Given the description of an element on the screen output the (x, y) to click on. 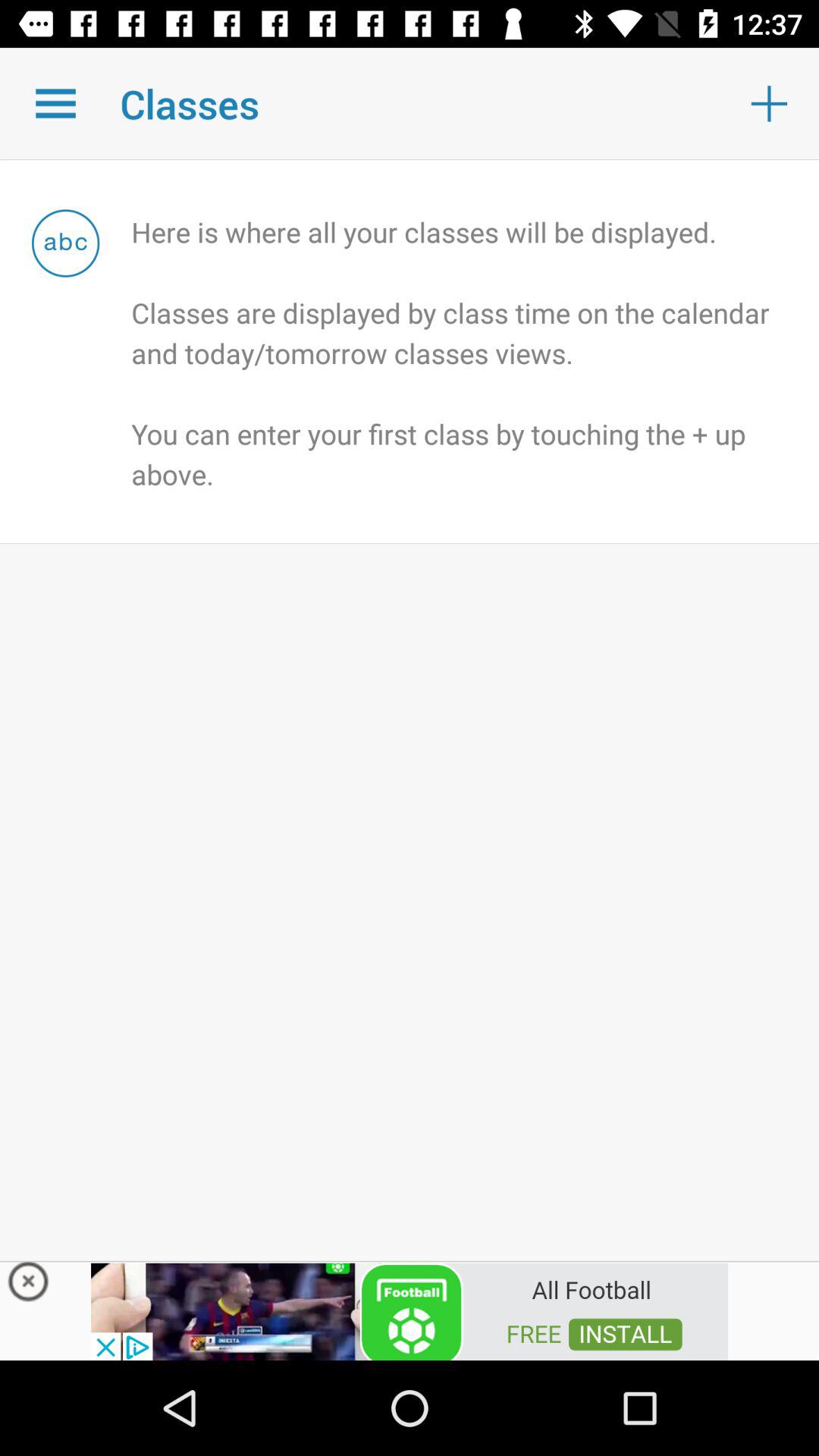
menu option (55, 103)
